Given the description of an element on the screen output the (x, y) to click on. 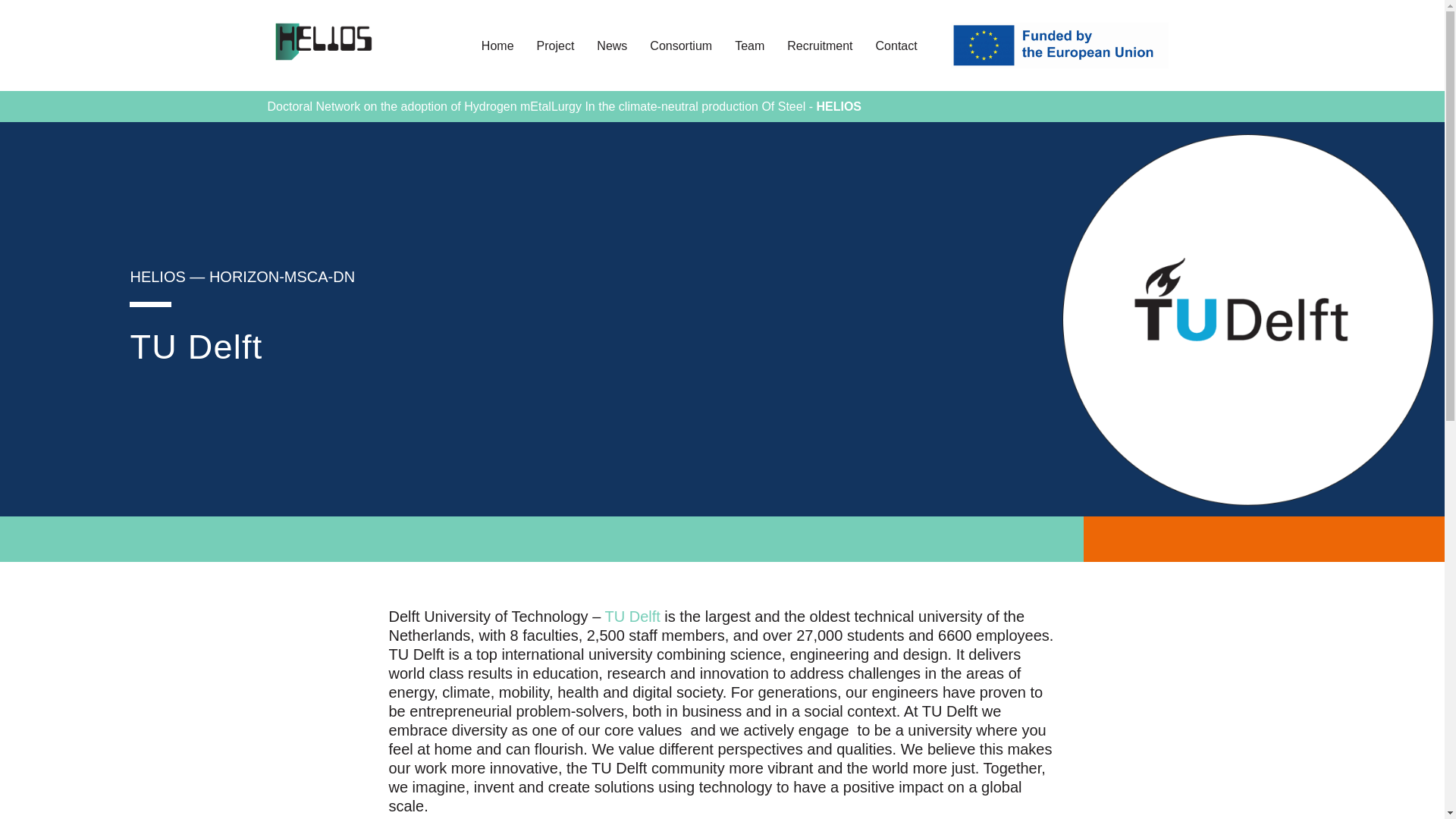
TU Delft (631, 616)
Home (497, 45)
Recruitment (819, 45)
Consortium (680, 45)
News (611, 45)
Contact (896, 45)
Project (556, 45)
Team (749, 45)
